Given the description of an element on the screen output the (x, y) to click on. 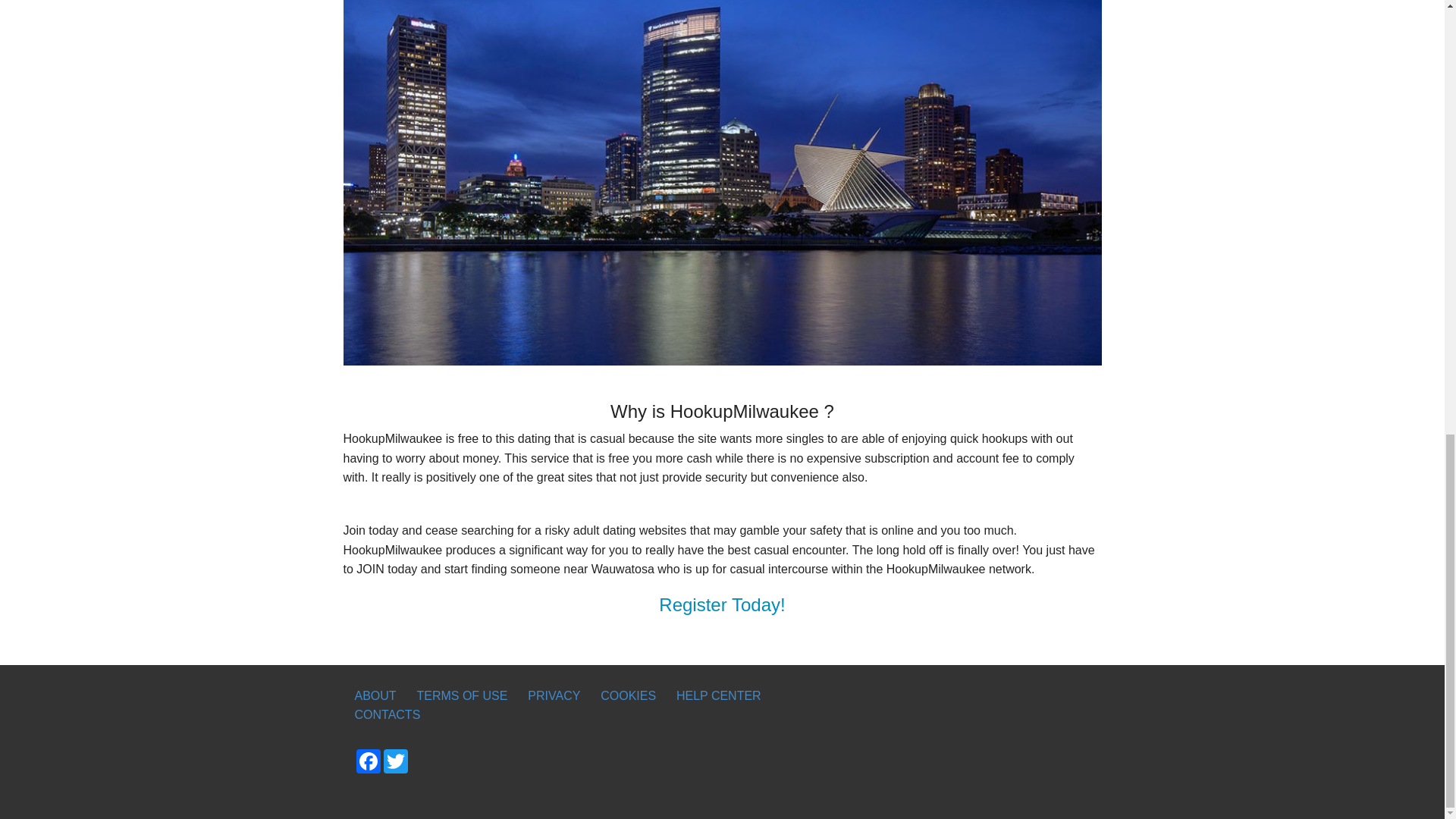
Twitter (395, 761)
ABOUT (375, 695)
HELP CENTER (719, 695)
Facebook (368, 761)
COOKIES (627, 695)
PRIVACY (553, 695)
TERMS OF USE (461, 695)
CONTACTS (387, 714)
Register Today! (721, 604)
